Given the description of an element on the screen output the (x, y) to click on. 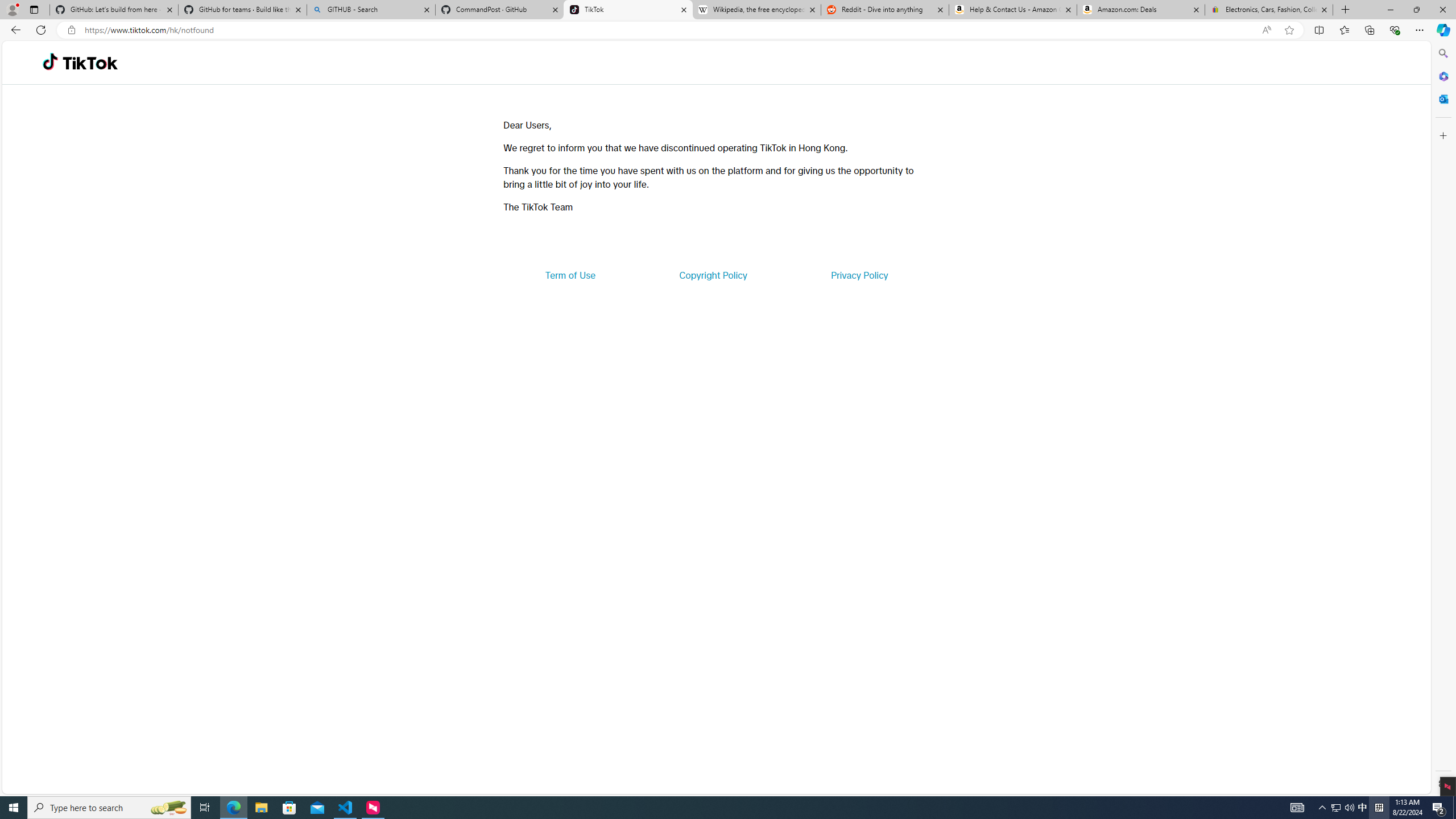
TikTok (89, 62)
Amazon.com: Deals (1140, 9)
Electronics, Cars, Fashion, Collectibles & More | eBay (1268, 9)
Privacy Policy (858, 274)
TikTok (628, 9)
